Given the description of an element on the screen output the (x, y) to click on. 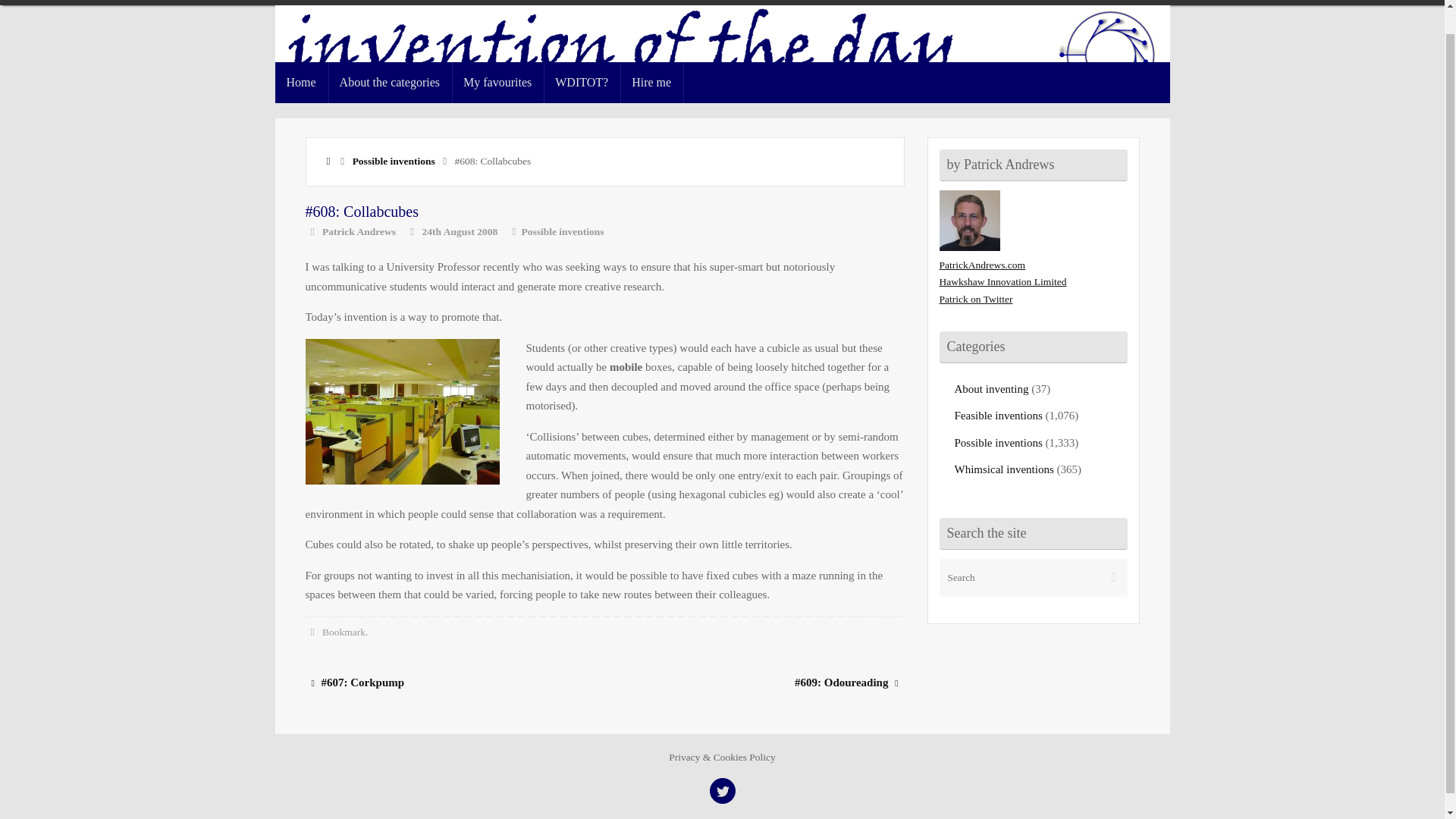
Author (311, 231)
Date (411, 231)
Possible inventions (562, 231)
About the categories (390, 82)
Home (301, 82)
Home (328, 161)
My favourites (497, 82)
WDITOT? (581, 82)
Patrick Andrews (358, 231)
About inventing (990, 388)
Patrick on Twitter (975, 298)
Hawkshaw Innovation Limited (1002, 281)
Invention Of The Day (722, 57)
Bookmark (343, 632)
Possible inventions (393, 161)
